Given the description of an element on the screen output the (x, y) to click on. 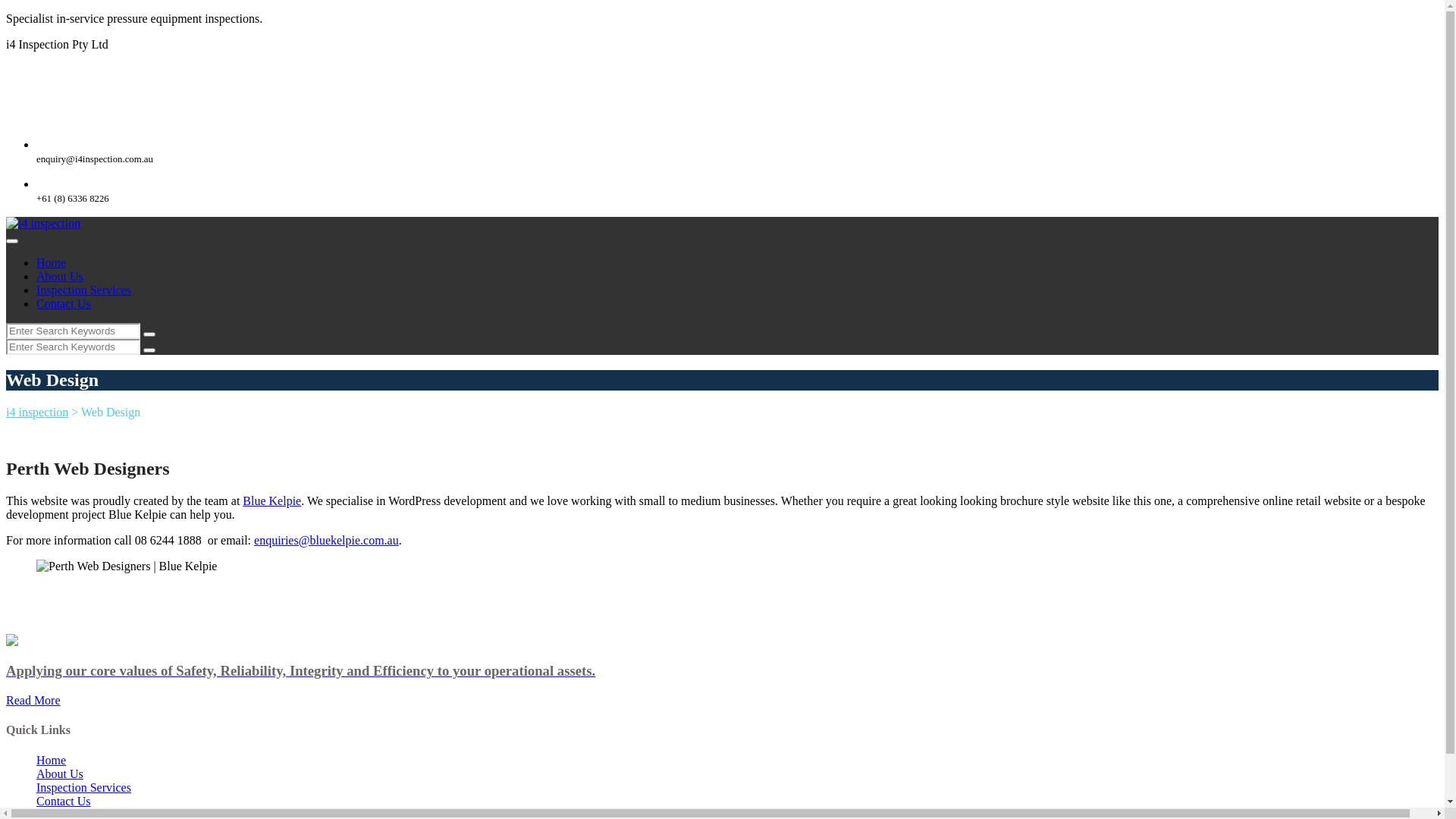
Home Element type: text (50, 759)
About Us Element type: text (59, 773)
i4 inspection Element type: text (37, 411)
Home Element type: text (50, 262)
About Us Element type: text (59, 275)
enquiries@bluekelpie.com.au Element type: text (326, 539)
Contact Us Element type: text (63, 800)
Contact Us Element type: text (63, 303)
Inspection Services Element type: text (83, 787)
Blue Kelpie Element type: text (271, 500)
i4 inspection Element type: hover (43, 223)
Perth Web Designers | Blue Kelpie Element type: hover (126, 566)
Read More Element type: text (33, 699)
Inspection Services Element type: text (83, 289)
